Given the description of an element on the screen output the (x, y) to click on. 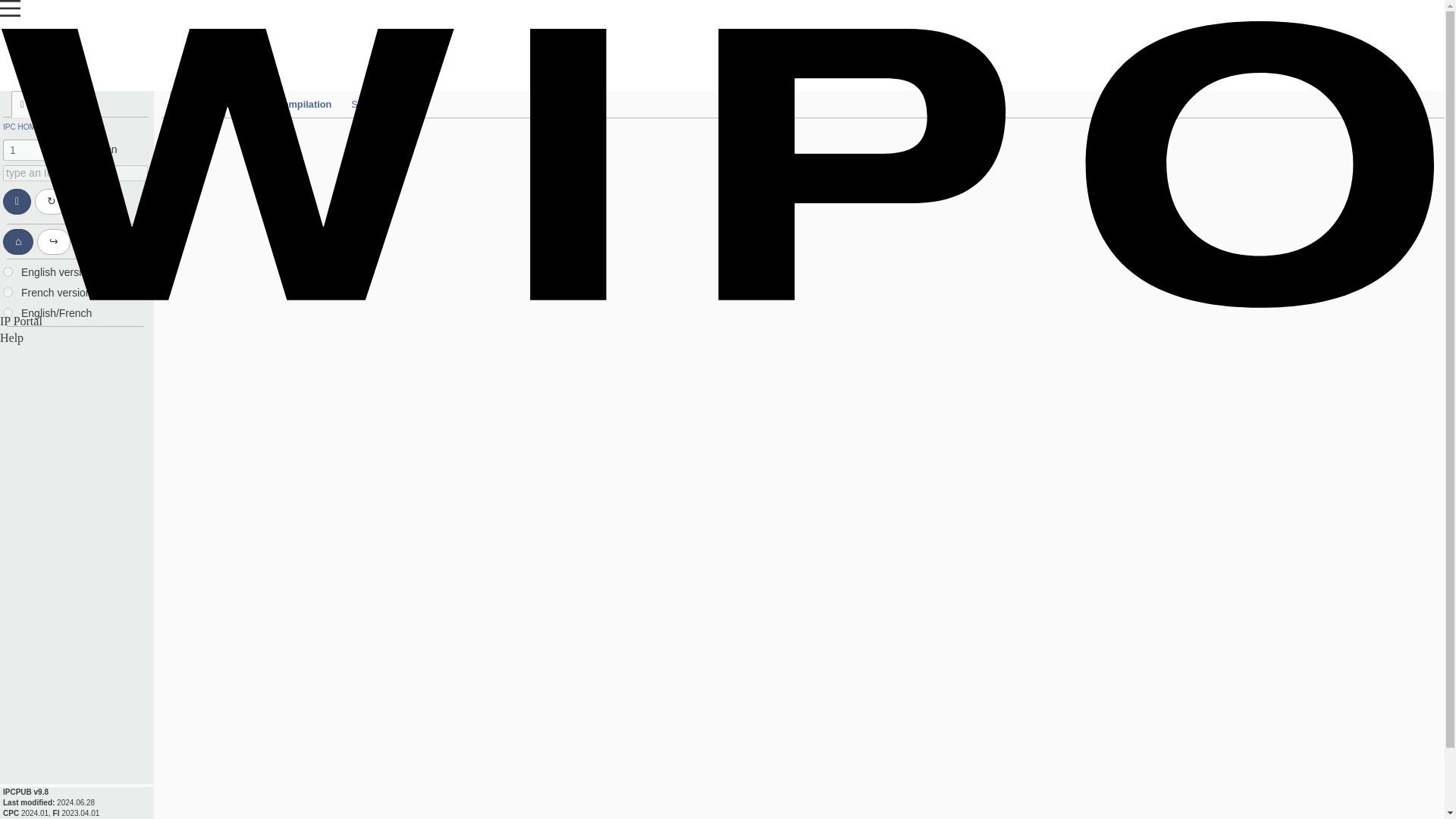
l1 (7, 271)
IPC HOME (21, 124)
DOWNLOAD (71, 124)
Scheme (197, 103)
RCL (245, 103)
Compilation (303, 103)
Search (366, 103)
l3 (7, 312)
l2 (7, 292)
